Given the description of an element on the screen output the (x, y) to click on. 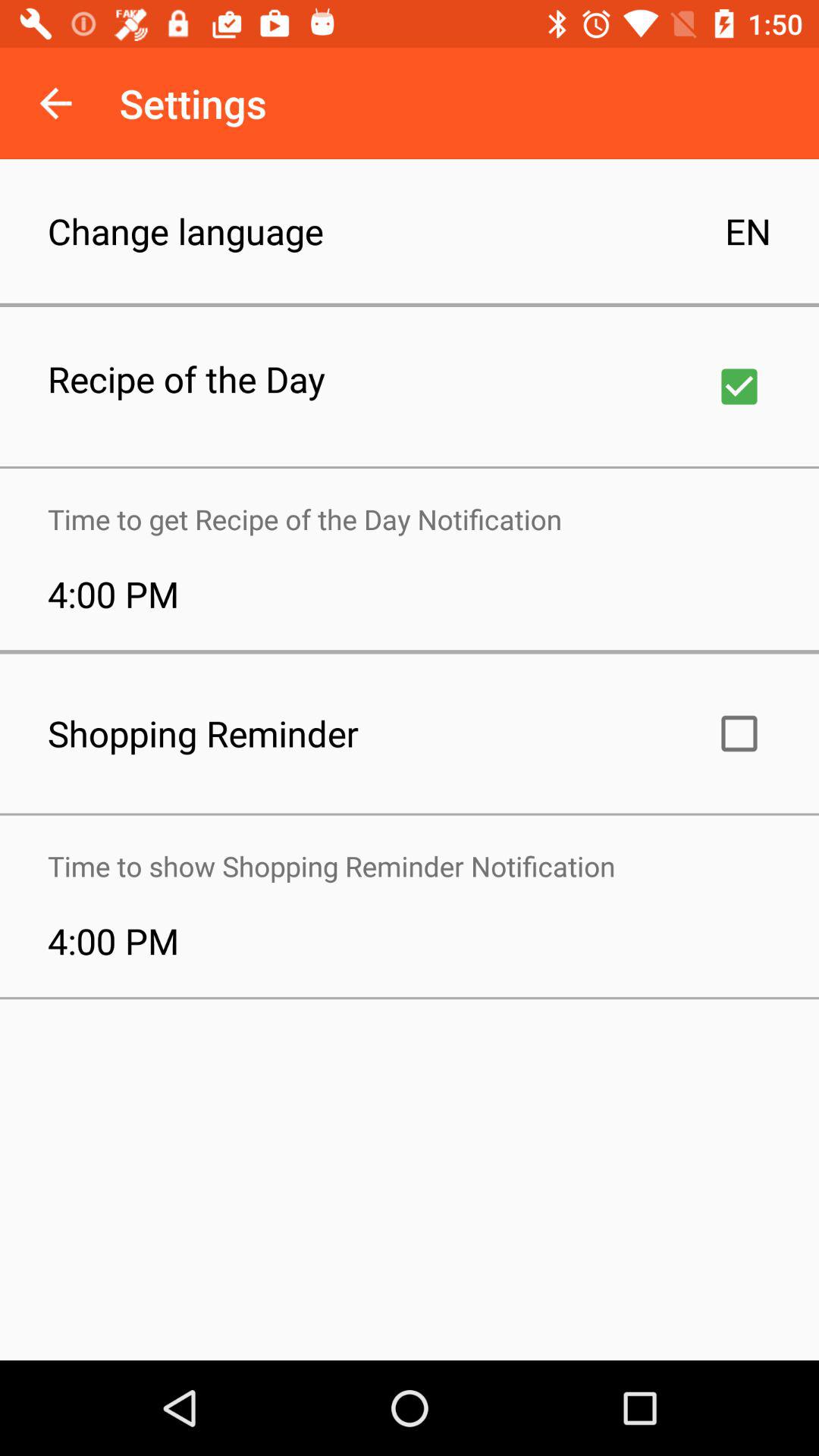
enable shopping reminder (739, 733)
